Given the description of an element on the screen output the (x, y) to click on. 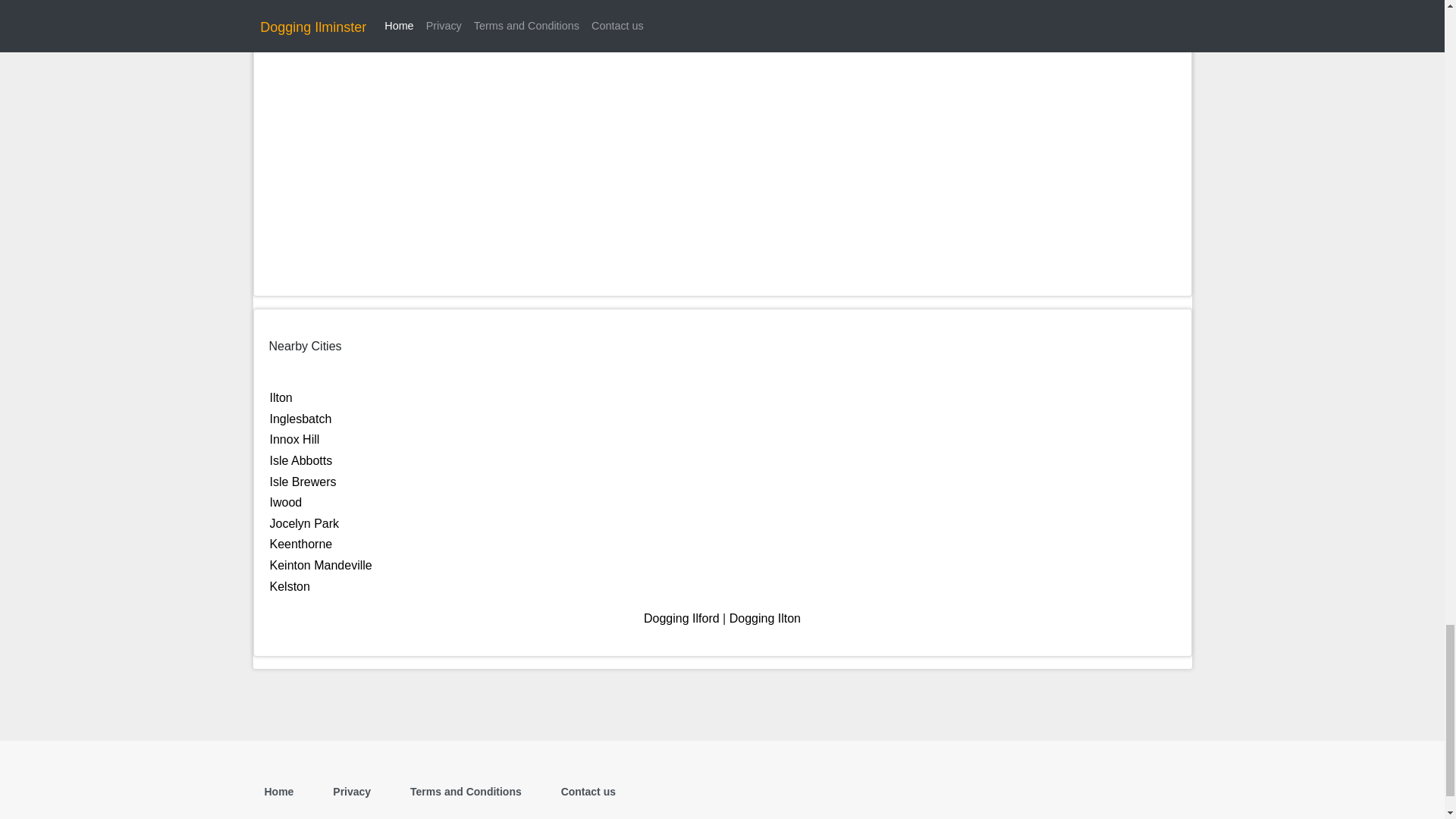
Jocelyn Park (304, 522)
Isle Abbotts (301, 460)
Kelston (289, 585)
Isle Brewers (302, 481)
Keinton Mandeville (320, 564)
Ilton (280, 397)
Dogging Ilton (764, 617)
Keenthorne (301, 543)
Dogging Ilford (681, 617)
Iwood (285, 502)
